Given the description of an element on the screen output the (x, y) to click on. 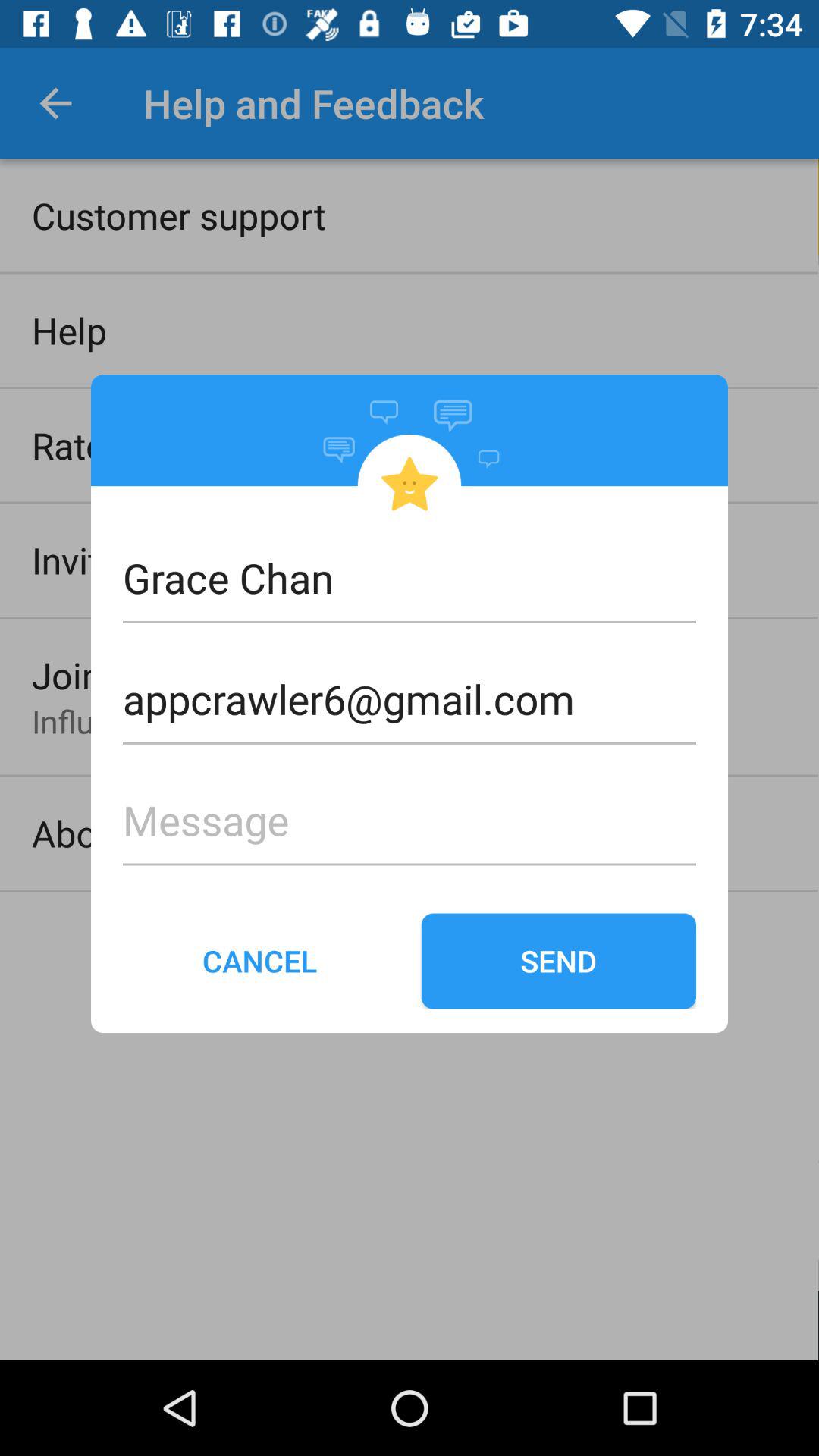
scroll until the grace chan (409, 577)
